Given the description of an element on the screen output the (x, y) to click on. 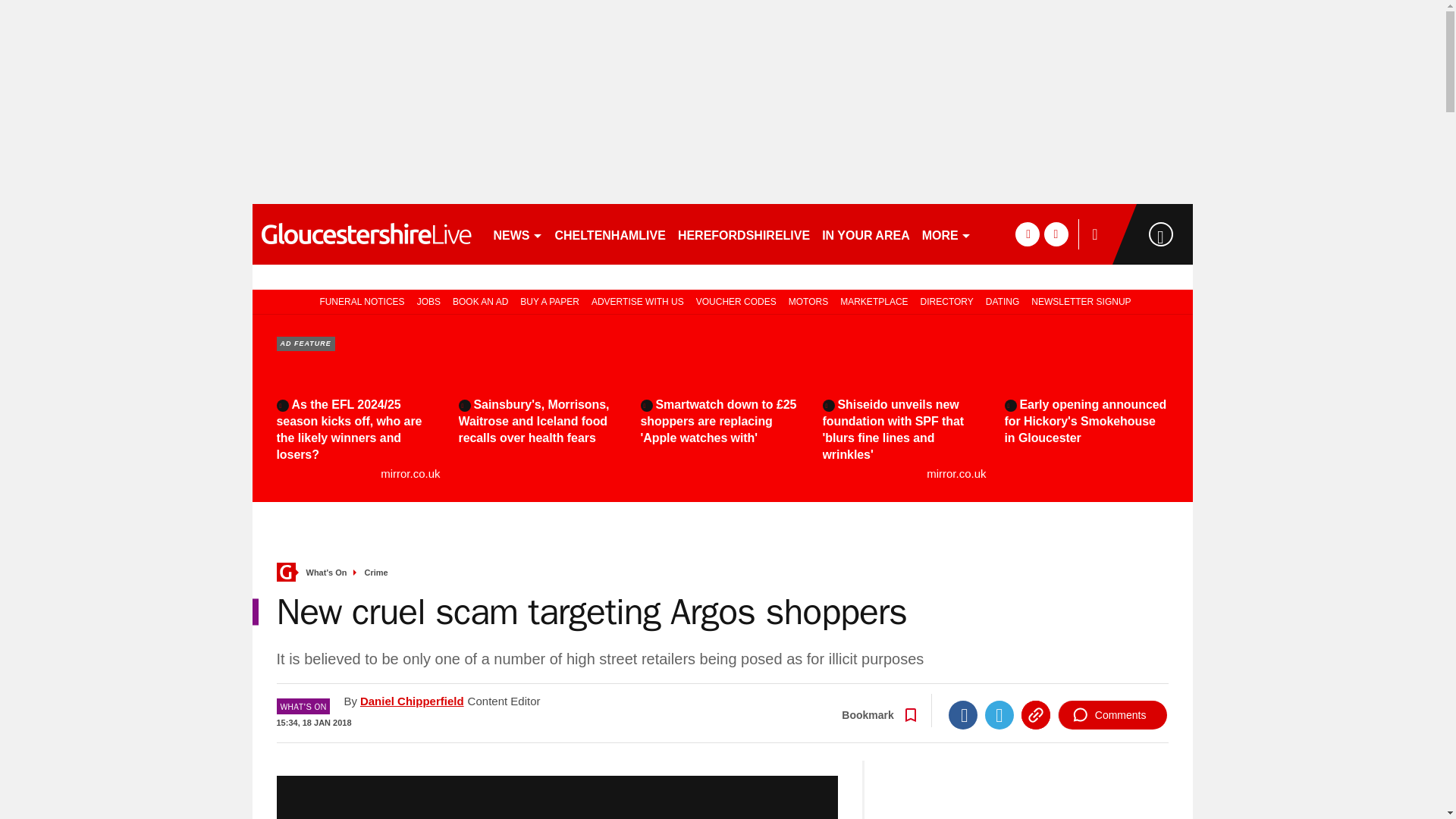
twitter (1055, 233)
Comments (1112, 715)
HEREFORDSHIRELIVE (743, 233)
MORE (945, 233)
NEWS (517, 233)
CHELTENHAMLIVE (609, 233)
IN YOUR AREA (865, 233)
Facebook (962, 715)
facebook (1026, 233)
gloucestershirelive (365, 233)
